Given the description of an element on the screen output the (x, y) to click on. 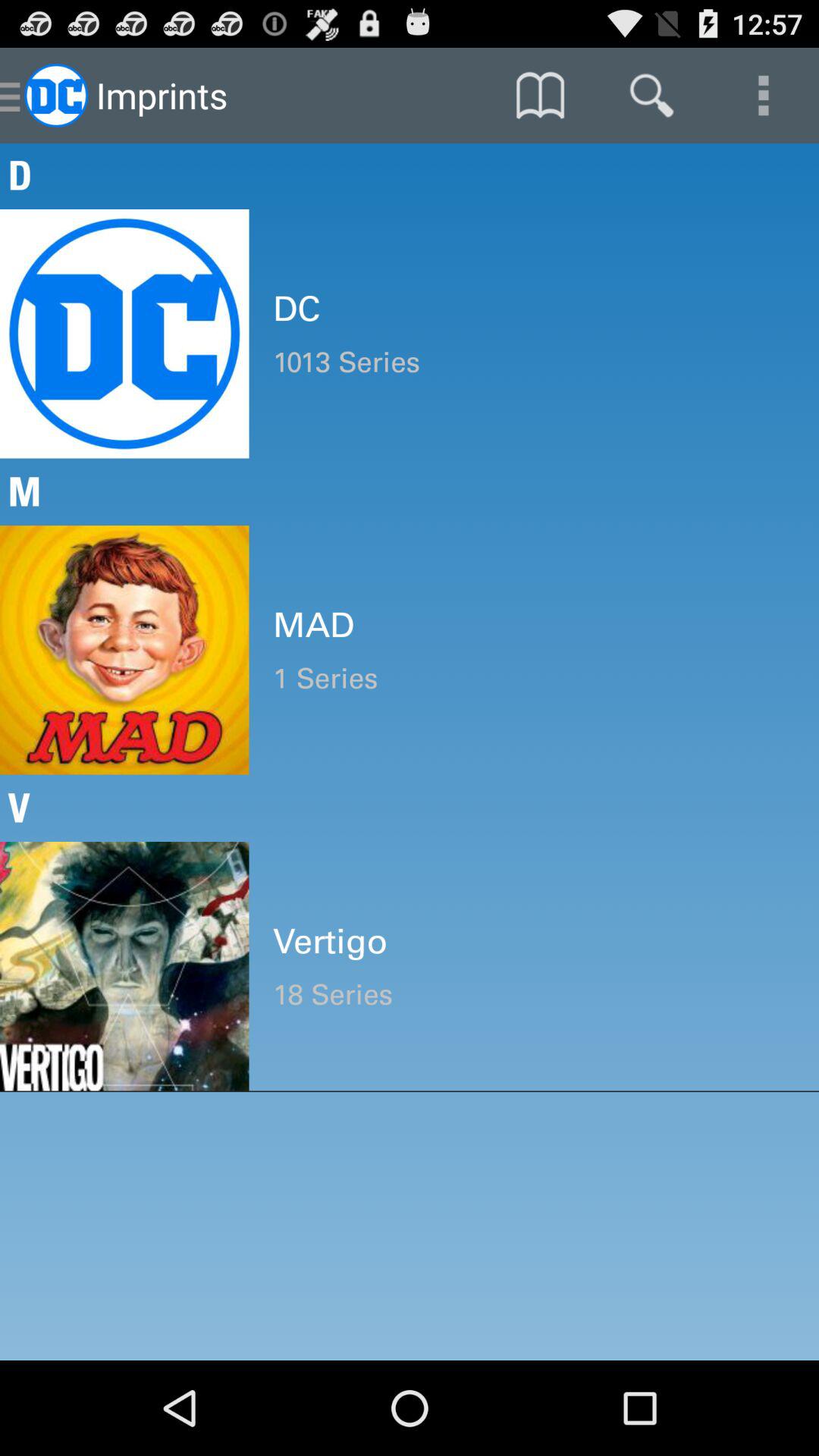
turn on m item (409, 491)
